Given the description of an element on the screen output the (x, y) to click on. 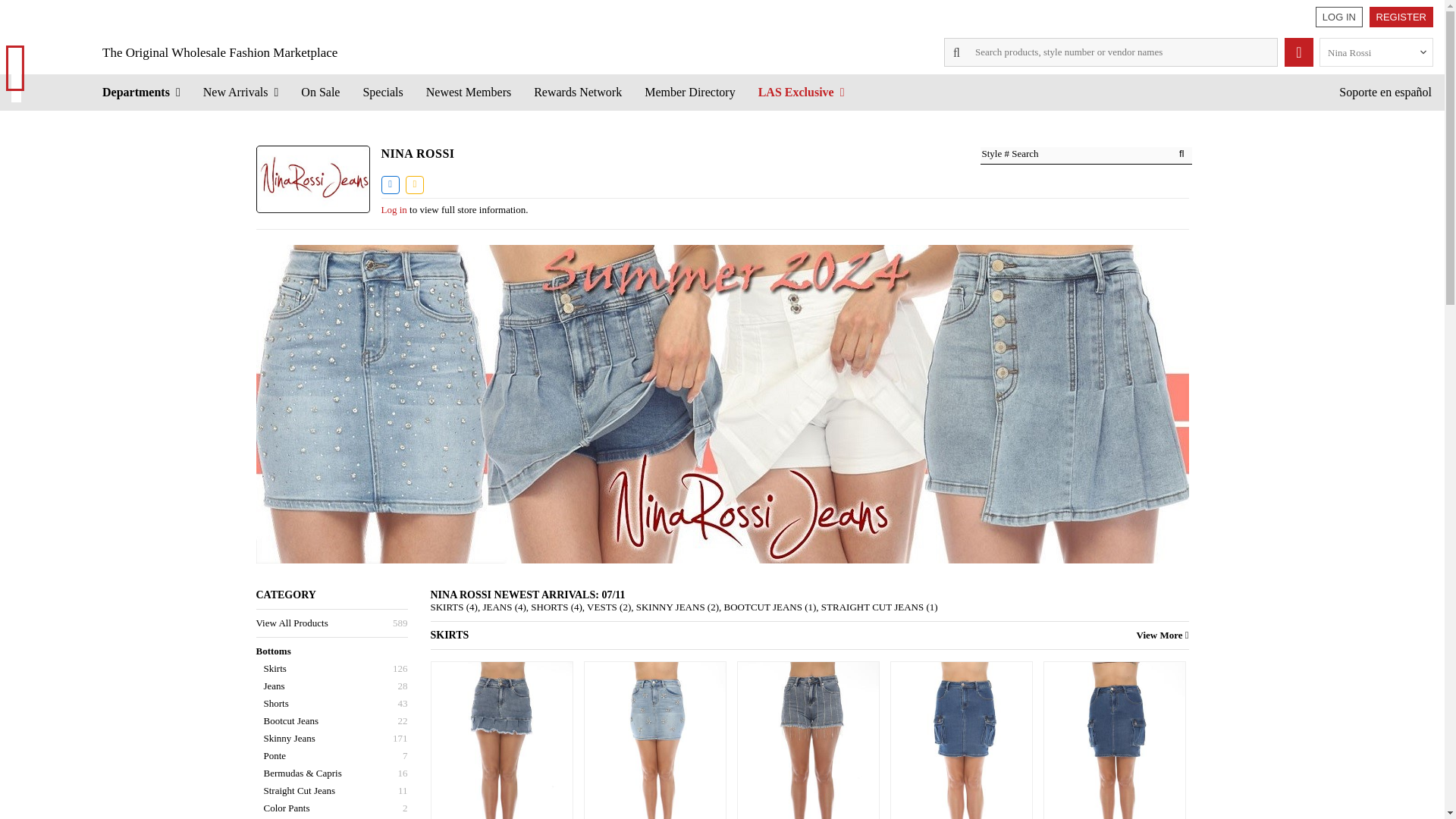
Departments   (140, 91)
LOG IN (1339, 16)
Rewards Network (577, 91)
REGISTER (1401, 16)
